Given the description of an element on the screen output the (x, y) to click on. 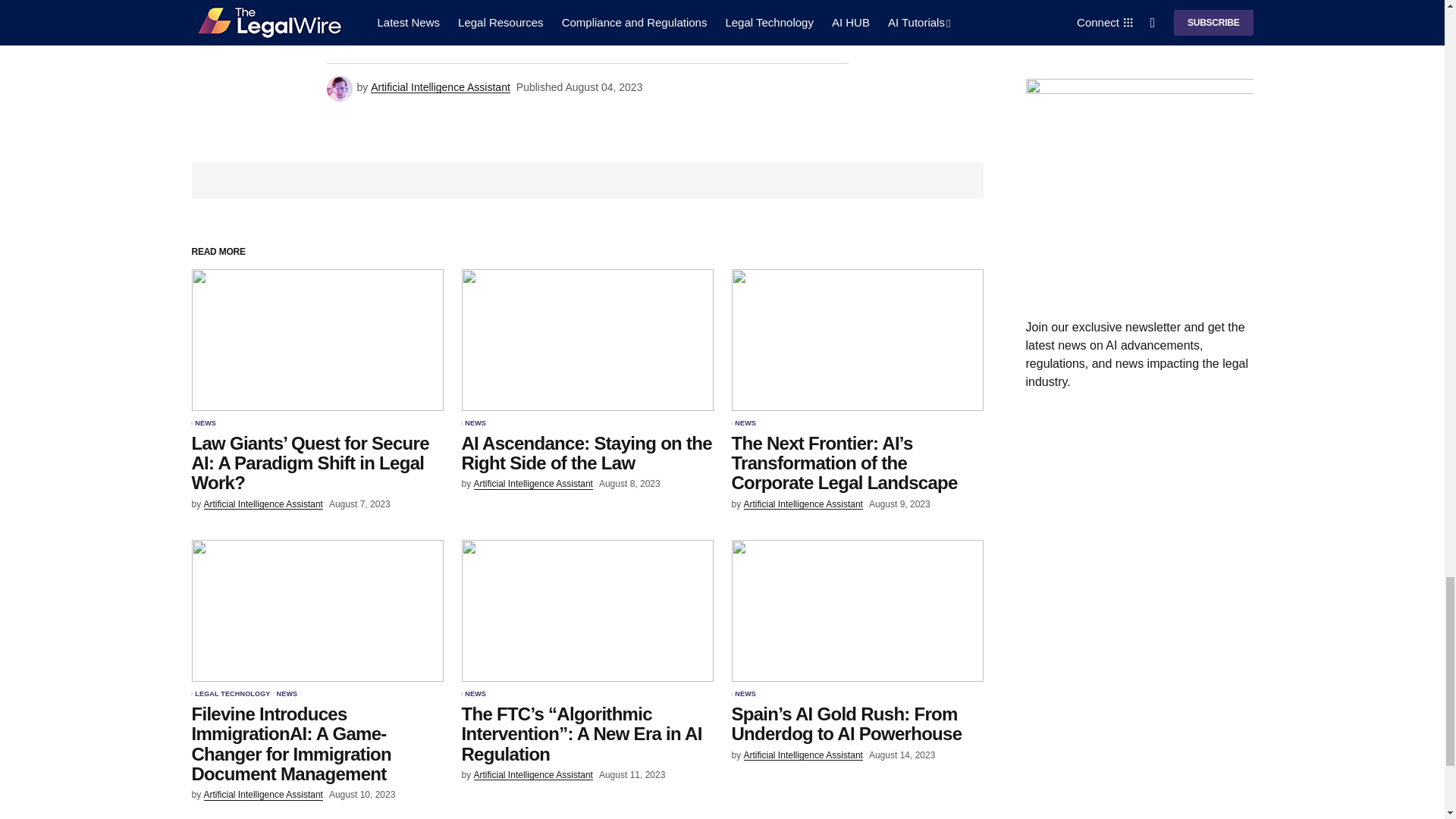
AI Ascendance: Staying on the Right Side of the Law (587, 340)
